Given the description of an element on the screen output the (x, y) to click on. 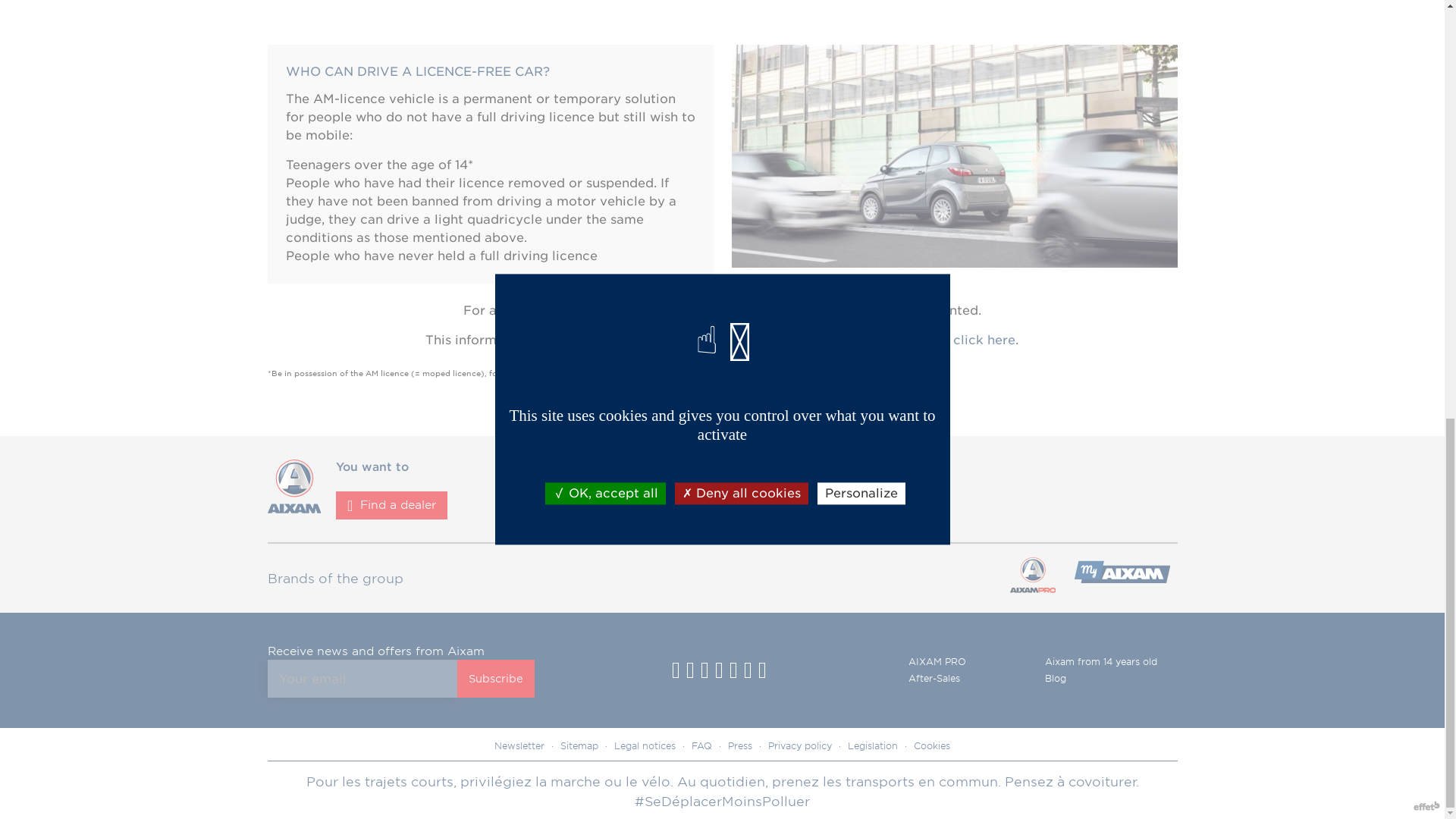
Subscribe (495, 678)
Aixam PRO (1121, 577)
Aixam (293, 509)
Aixam PRO (1031, 577)
